Given the description of an element on the screen output the (x, y) to click on. 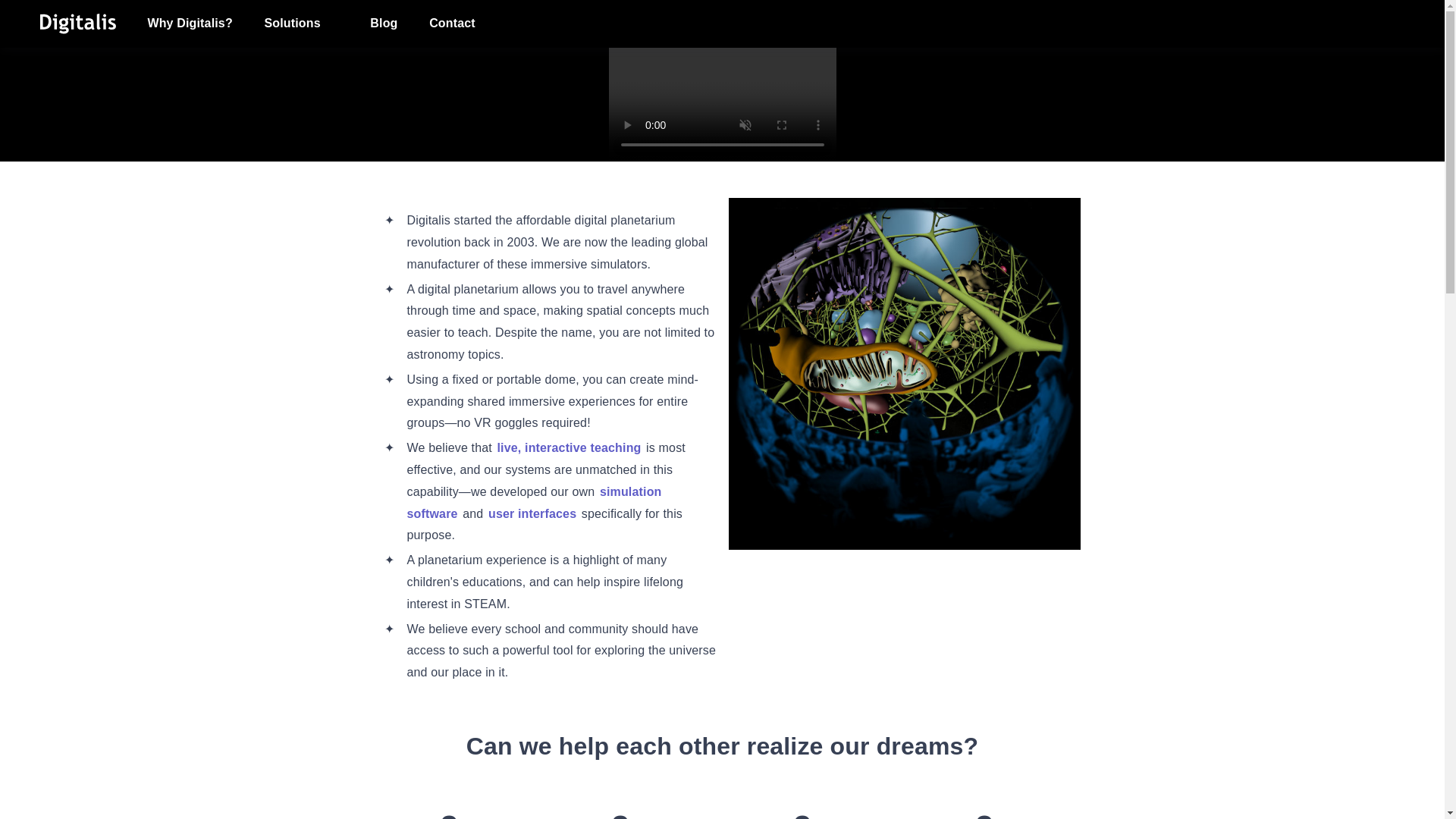
Solutions (300, 23)
Why Digitalis? (189, 23)
Blog (383, 23)
live, interactive teaching (569, 447)
Contact (451, 23)
user interfaces (532, 513)
simulation software (533, 502)
